Given the description of an element on the screen output the (x, y) to click on. 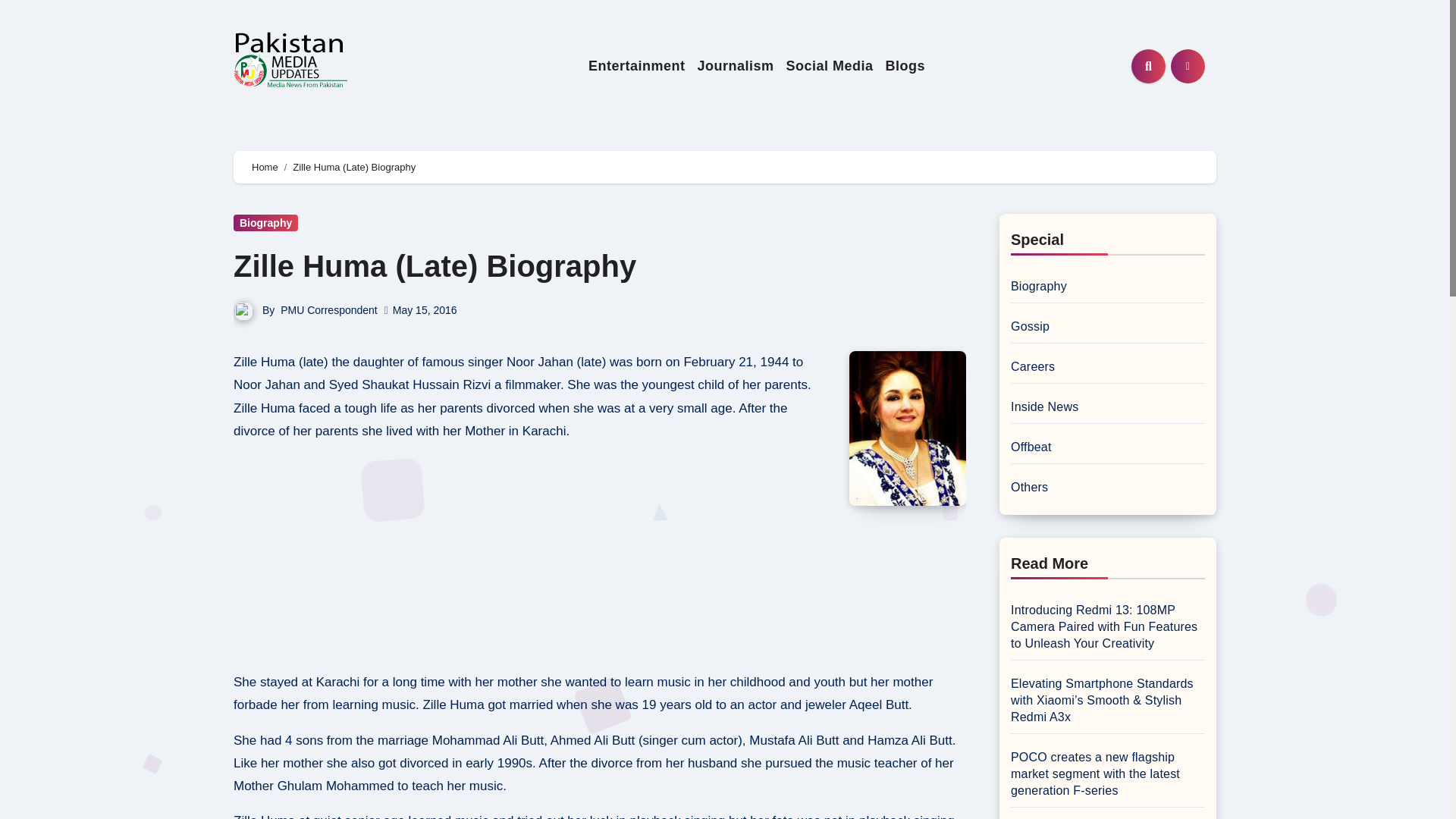
Social Media (828, 66)
Journalism (734, 66)
PMU Correspondent (329, 309)
Entertainment (636, 66)
Journalism (734, 66)
Blogs (905, 66)
Home (264, 166)
Advertisement (533, 561)
May 15, 2016 (425, 309)
Biography (265, 222)
